Given the description of an element on the screen output the (x, y) to click on. 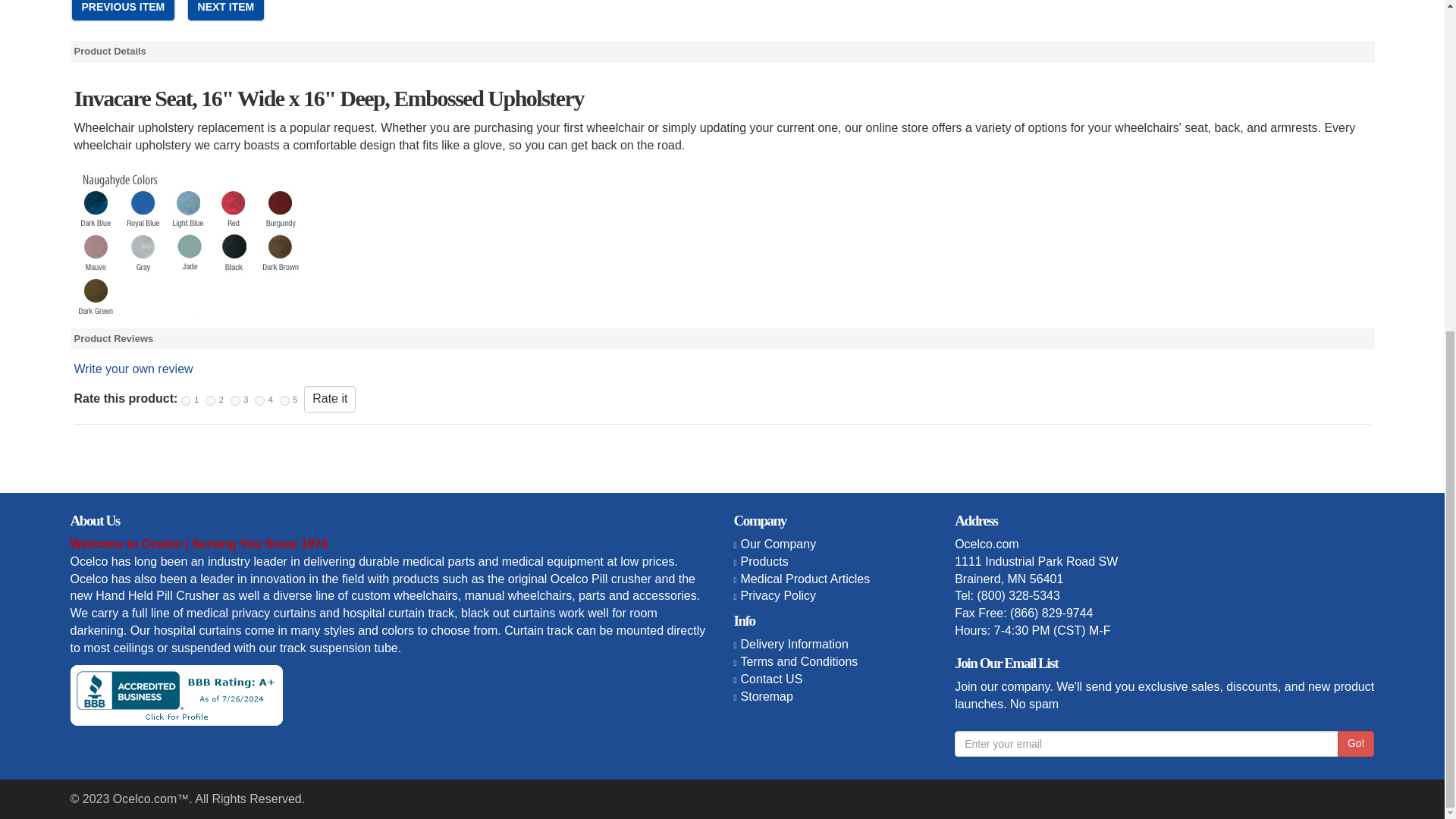
5 (284, 400)
1 (185, 400)
Rate it (329, 398)
4 (259, 400)
3 (235, 400)
2 (210, 400)
